Given the description of an element on the screen output the (x, y) to click on. 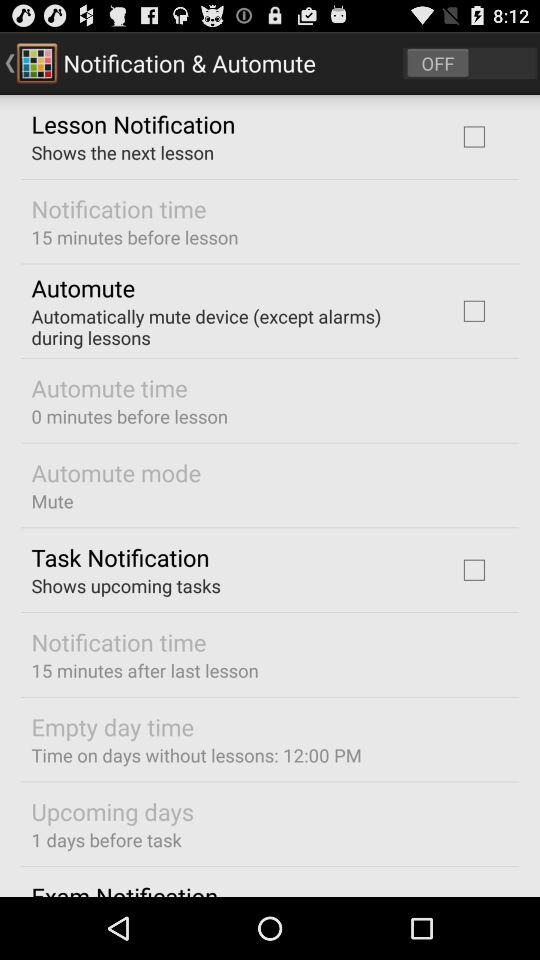
turn off the item below 0 minutes before app (115, 472)
